Given the description of an element on the screen output the (x, y) to click on. 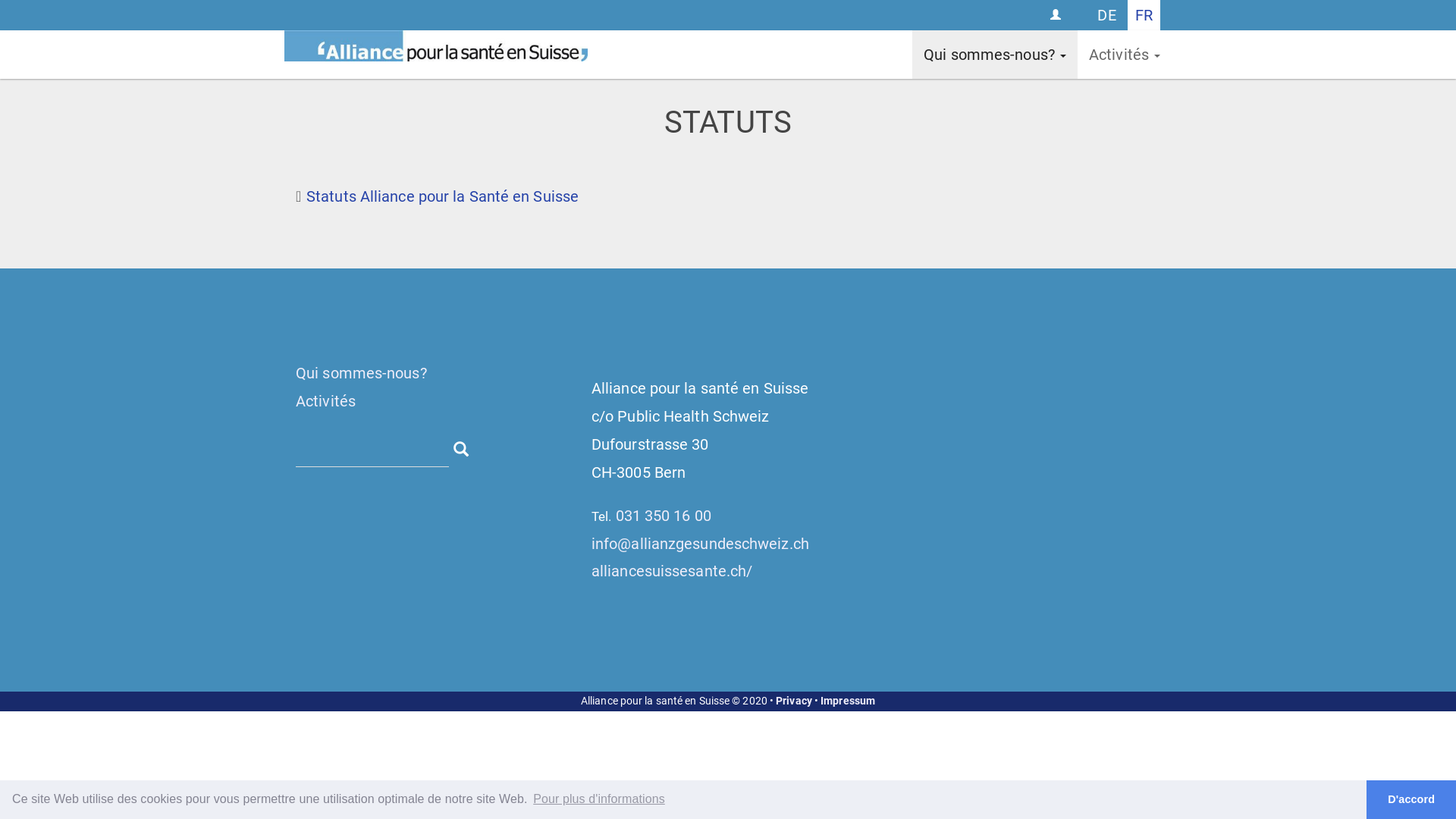
alliancesuissesante.ch/ Element type: text (671, 570)
Pour plus d'informations Element type: text (598, 798)
Privacy Element type: text (793, 700)
info@allianzgesundeschweiz.ch Element type: text (700, 543)
Qui sommes-nous? Element type: text (994, 54)
Qui sommes-nous? Element type: text (360, 373)
Impressum Element type: text (847, 700)
CONTACT Element type: text (1056, 14)
Search Element type: hover (460, 447)
031 350 16 00 Element type: text (663, 515)
